Given the description of an element on the screen output the (x, y) to click on. 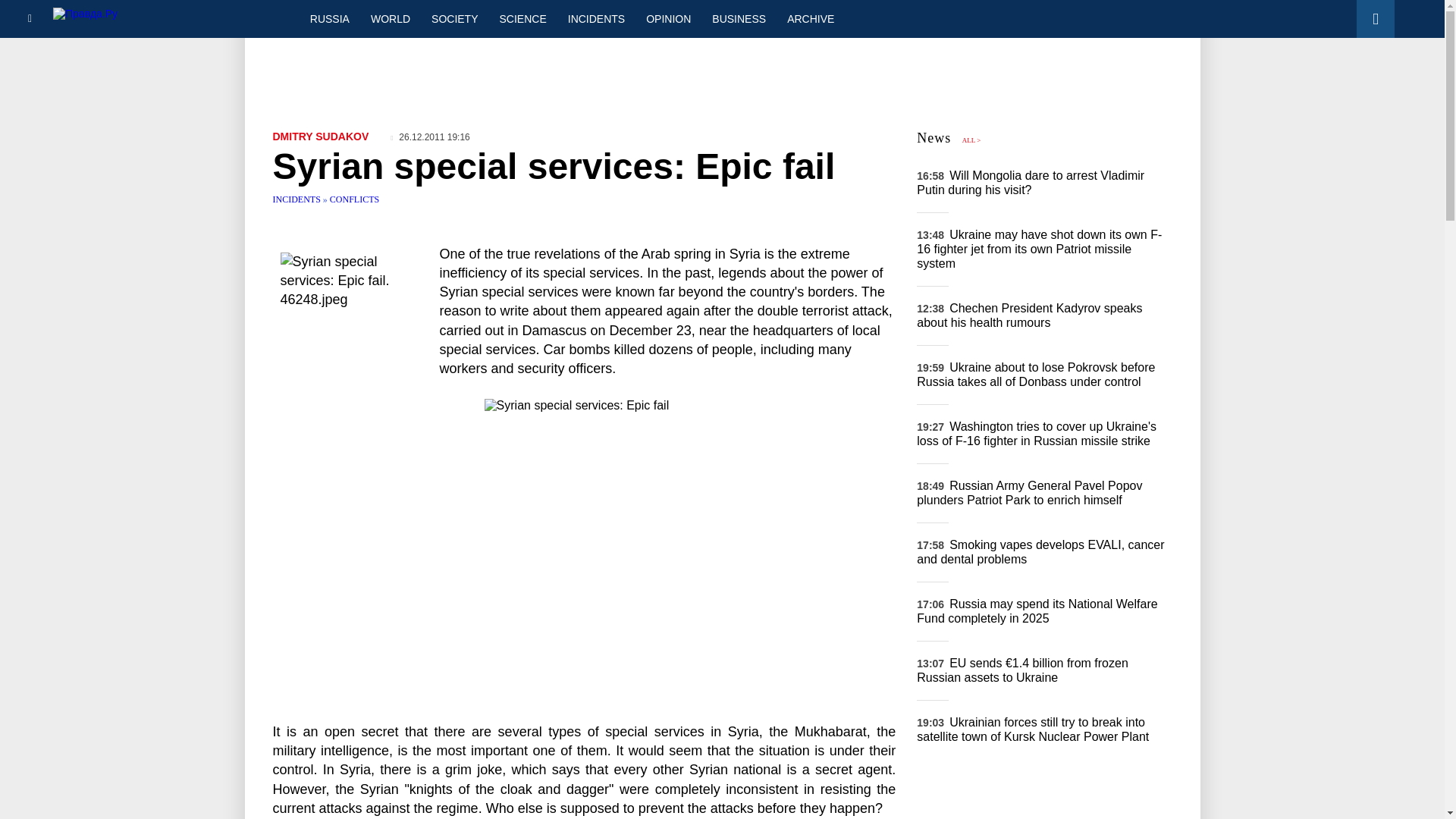
News (933, 137)
BUSINESS (738, 18)
RUSSIA (329, 18)
INCIDENTS (595, 18)
SCIENCE (523, 18)
DMITRY SUDAKOV (321, 136)
ARCHIVE (810, 18)
WORLD (389, 18)
Syrian special services: Epic fail. 46248.jpeg (356, 309)
